Given the description of an element on the screen output the (x, y) to click on. 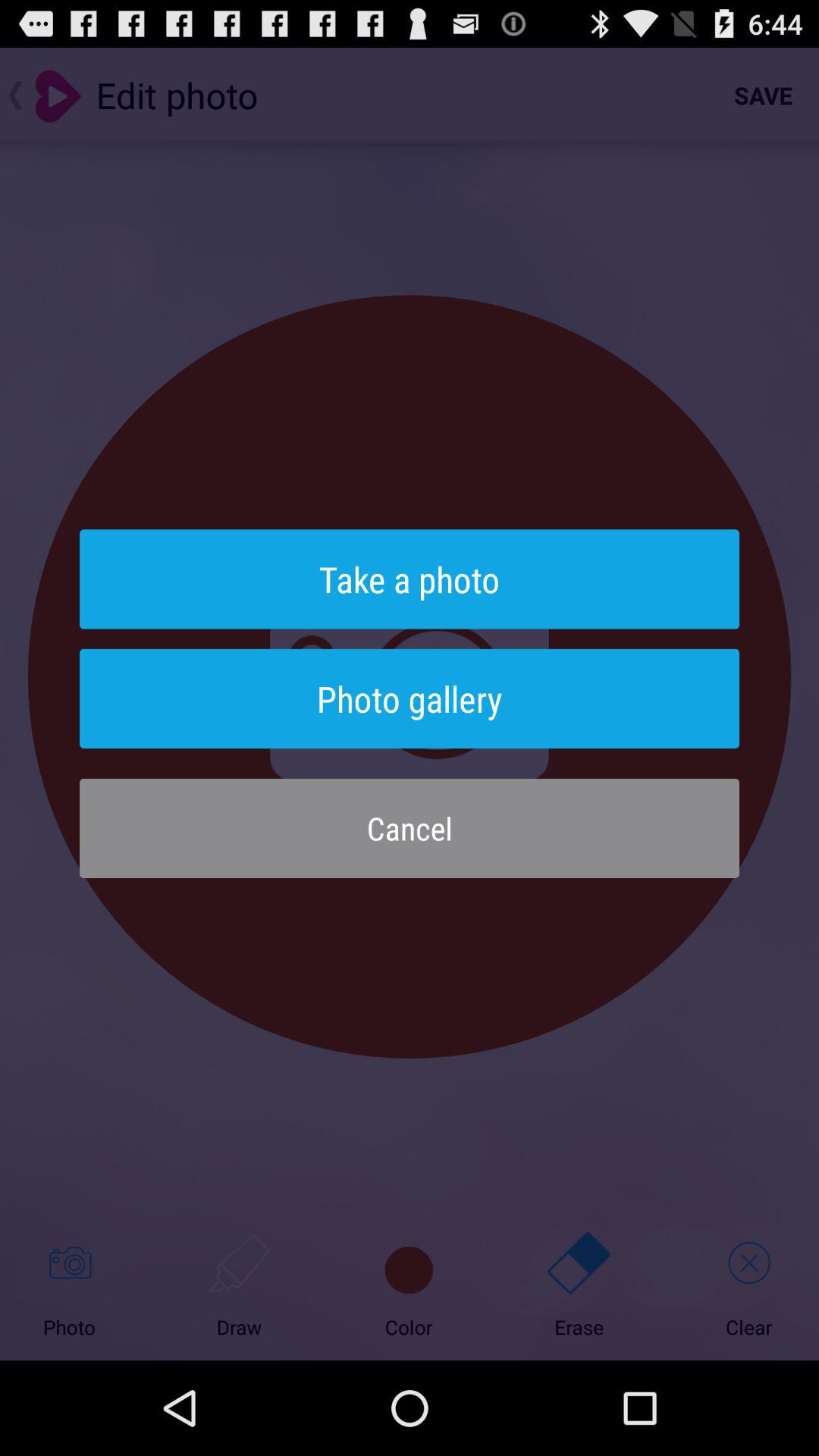
open the button above cancel item (409, 698)
